Given the description of an element on the screen output the (x, y) to click on. 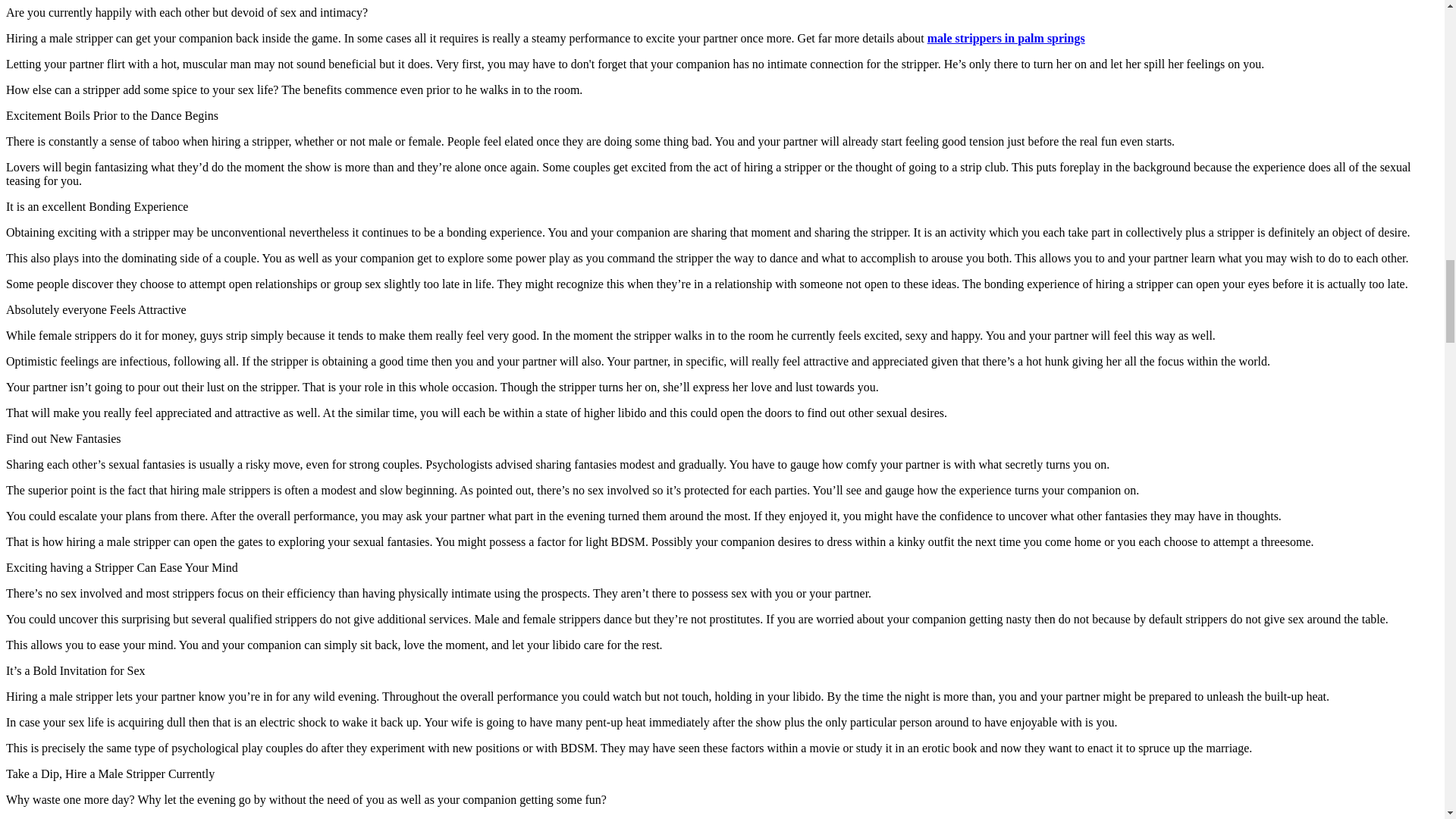
male strippers in palm springs (1005, 38)
